Given the description of an element on the screen output the (x, y) to click on. 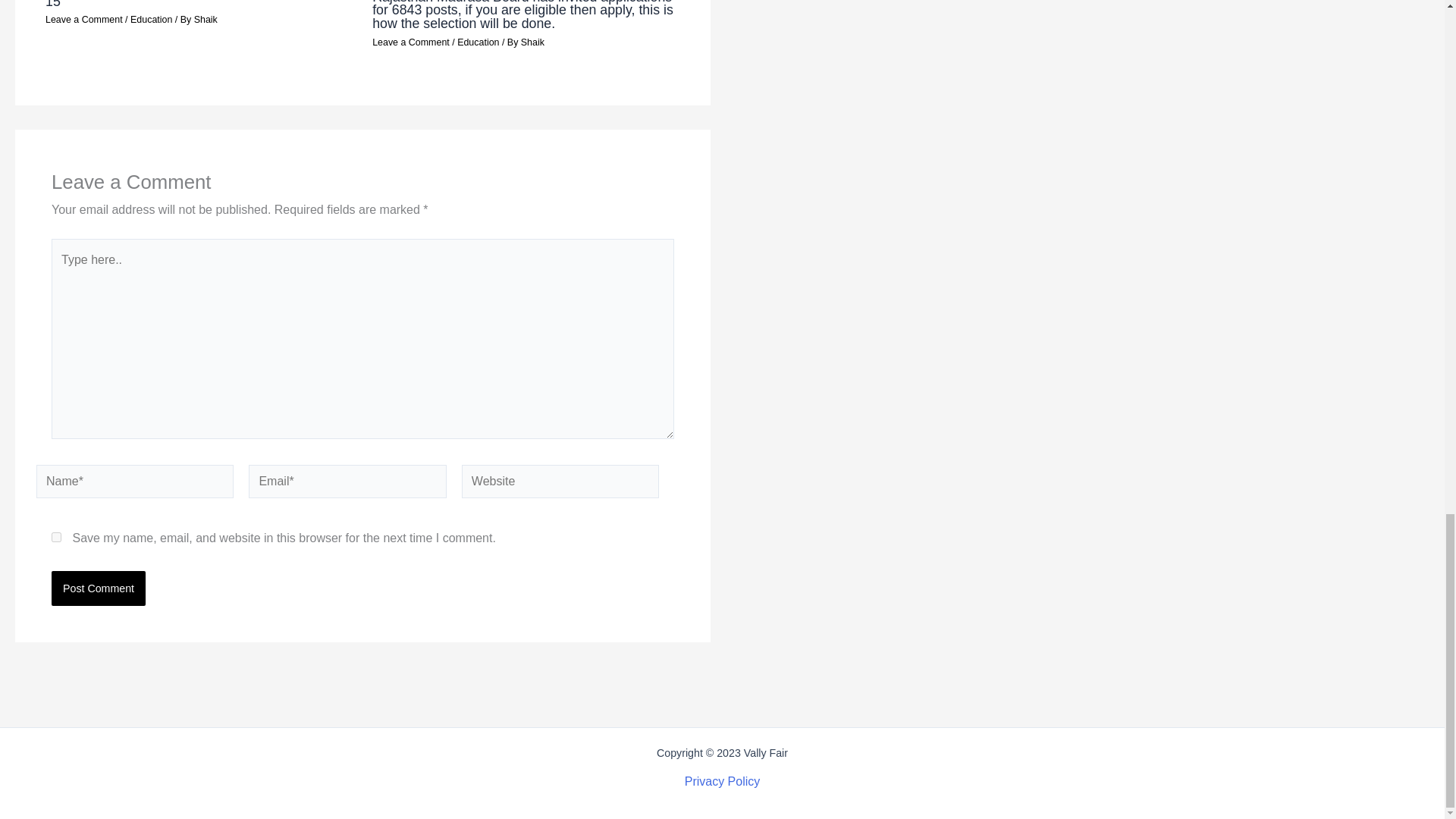
Education (478, 41)
View all posts by Shaik (532, 41)
Shaik (204, 19)
Leave a Comment (83, 19)
Post Comment (97, 588)
Education (151, 19)
Shaik (532, 41)
Leave a Comment (410, 41)
View all posts by Shaik (204, 19)
yes (55, 537)
Post Comment (97, 588)
